Given the description of an element on the screen output the (x, y) to click on. 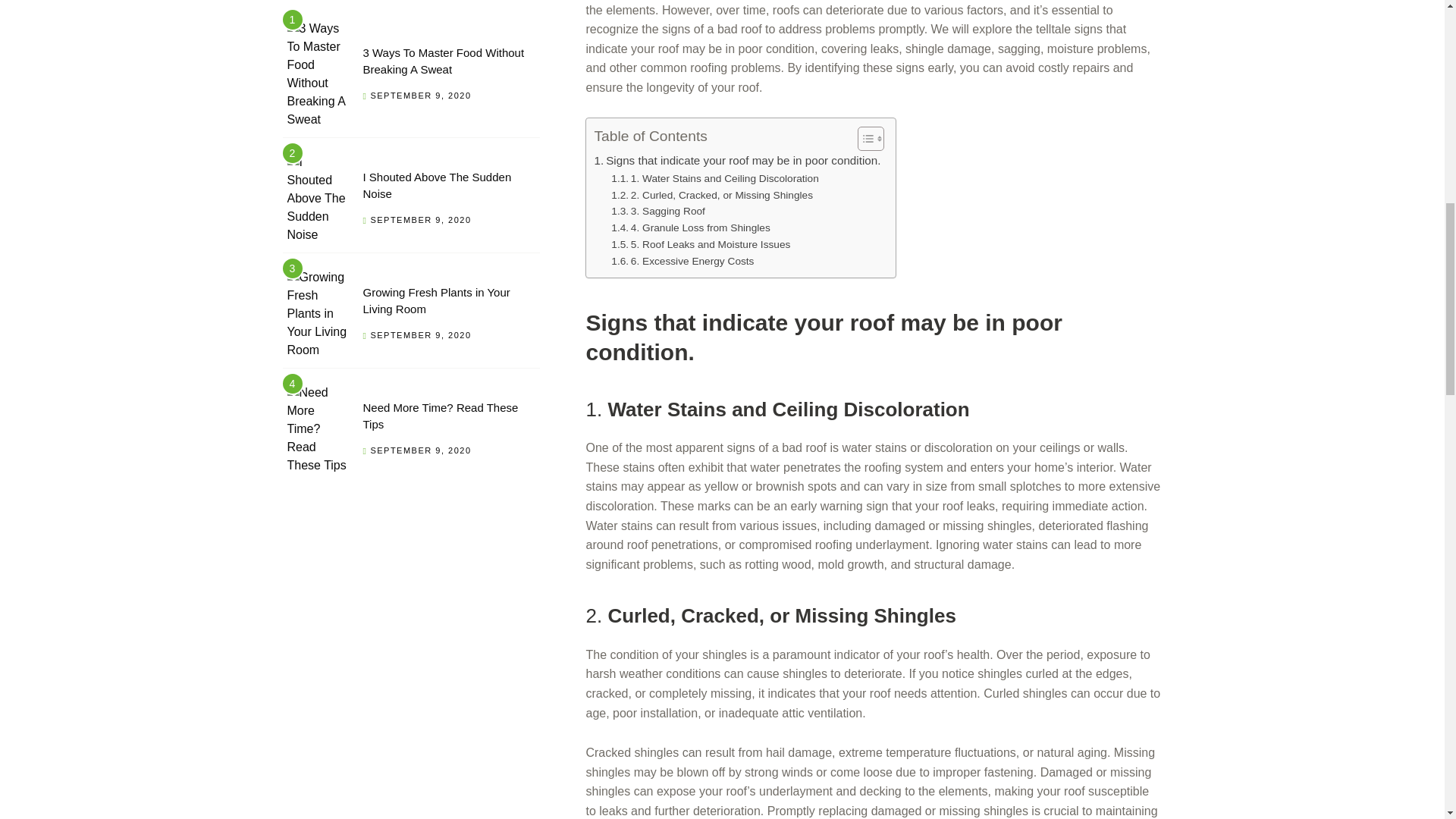
3. Sagging Roof (657, 211)
5. Roof Leaks and Moisture Issues (700, 244)
Permalink to I Shouted Above The Sudden Noise (436, 185)
SEPTEMBER 9, 2020 (419, 219)
3 Ways To Master Food Without Breaking A Sweat (443, 60)
1. Water Stains and Ceiling Discoloration (714, 178)
Permalink to Growing Fresh Plants in Your Living Room (316, 313)
Need More Time? Read These Tips (440, 416)
Signs that indicate your roof may be in poor condition. (737, 160)
Permalink to Need More Time? Read These Tips (316, 429)
Signs that indicate your roof may be in poor condition. (737, 160)
Permalink to 3 Ways To Master Food Without Breaking A Sweat (316, 73)
Permalink to 3 Ways To Master Food Without Breaking A Sweat (443, 60)
